Given the description of an element on the screen output the (x, y) to click on. 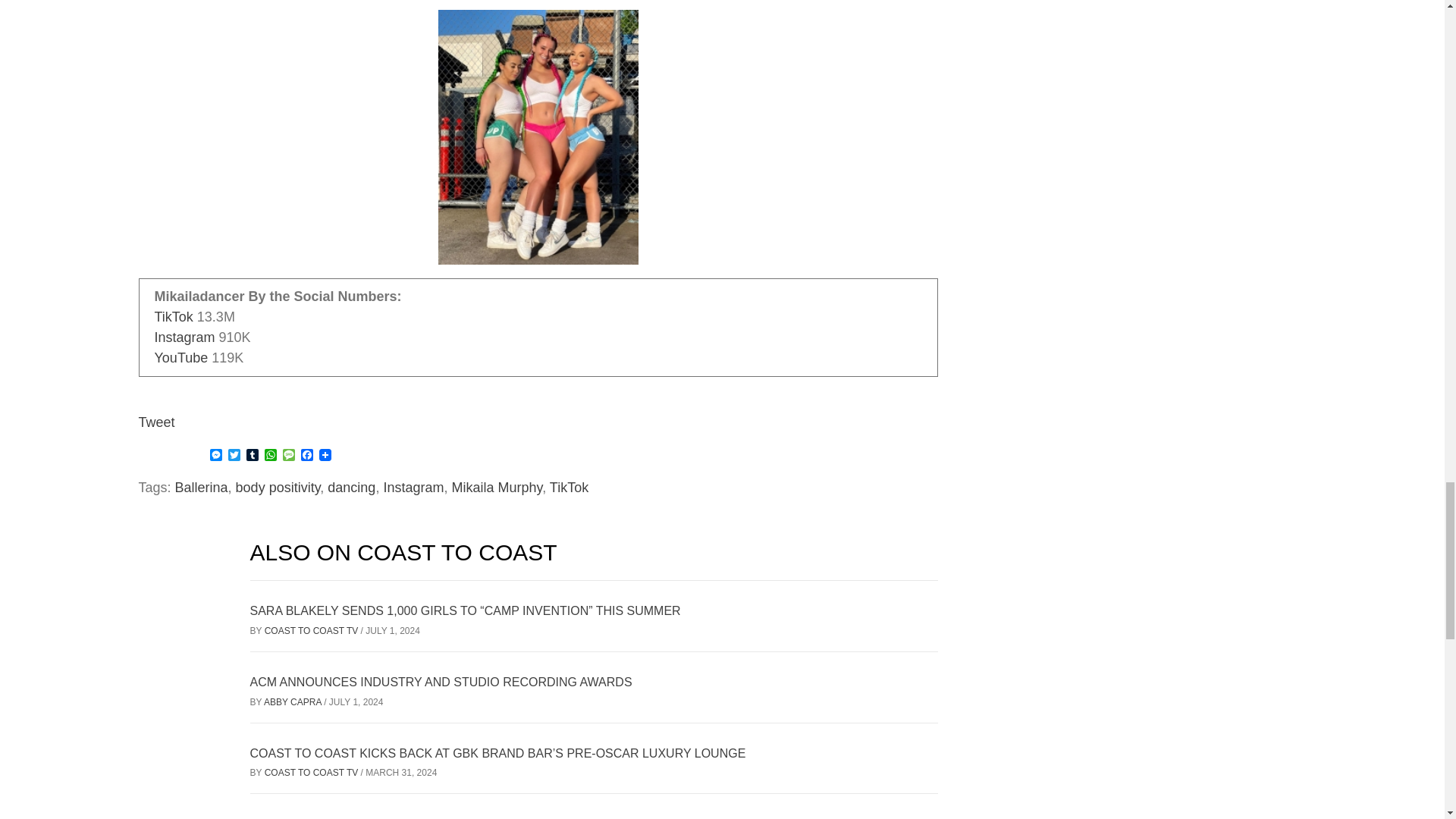
Messenger (215, 455)
Facebook (306, 455)
TikTok (173, 316)
Tumblr (251, 455)
WhatsApp (269, 455)
Twitter (233, 455)
Messenger (215, 455)
Twitter (233, 455)
YouTube (181, 357)
Message (288, 455)
